Given the description of an element on the screen output the (x, y) to click on. 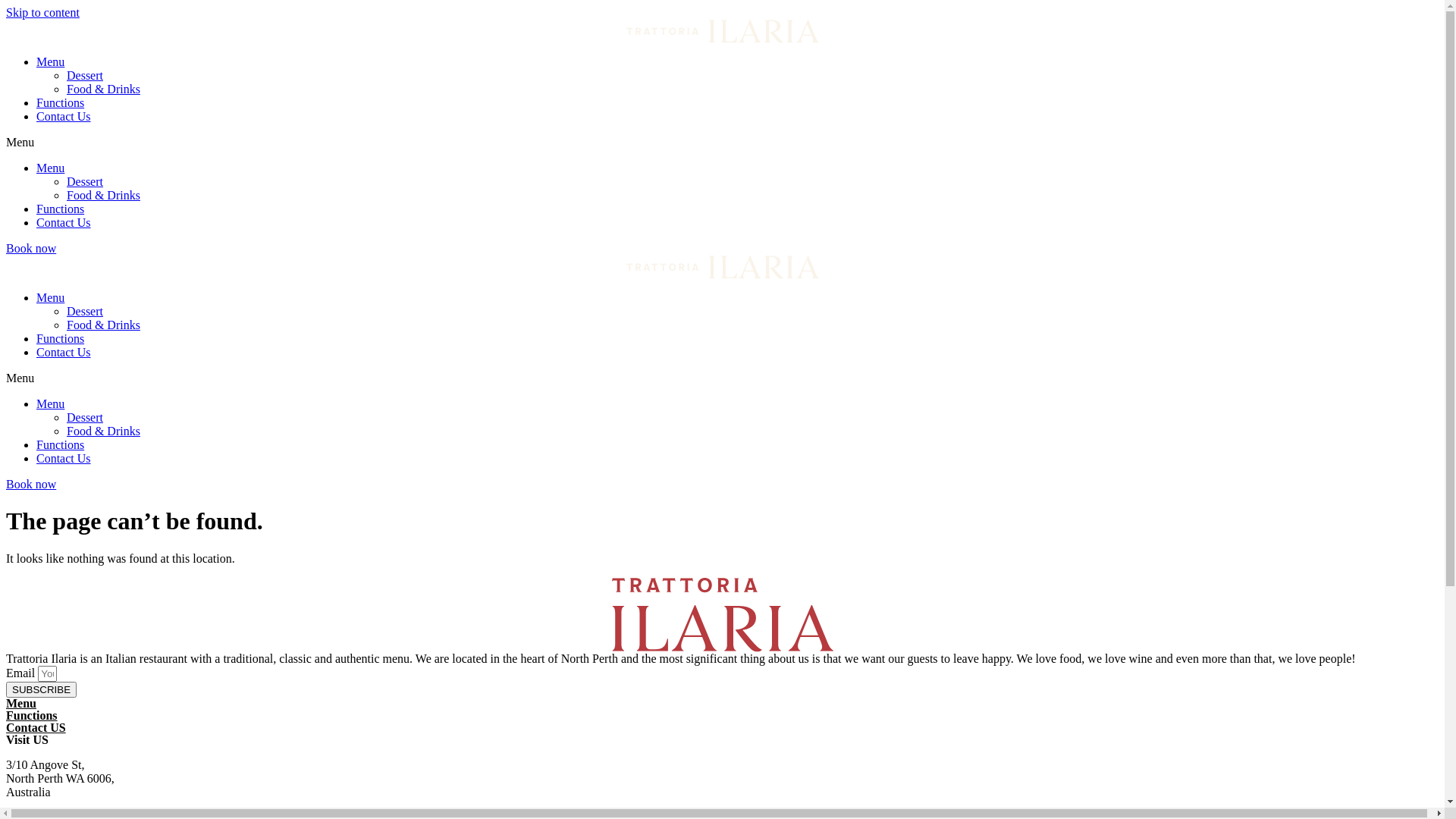
Food & Drinks Element type: text (103, 194)
Functions Element type: text (31, 715)
Functions Element type: text (60, 208)
Menu Element type: text (50, 403)
Contact Us Element type: text (63, 457)
Contact Us Element type: text (63, 222)
Functions Element type: text (60, 338)
Menu Element type: text (50, 167)
Food & Drinks Element type: text (103, 88)
Menu Element type: text (50, 297)
Contact US Element type: text (35, 727)
Dessert Element type: text (84, 181)
SUBSCRIBE Element type: text (41, 689)
Menu Element type: text (21, 702)
Contact Us Element type: text (63, 115)
Functions Element type: text (60, 444)
Book now Element type: text (31, 483)
Book now Element type: text (31, 247)
Dessert Element type: text (84, 75)
Dessert Element type: text (84, 417)
Food & Drinks Element type: text (103, 430)
Menu Element type: text (50, 61)
Contact Us Element type: text (63, 351)
Functions Element type: text (60, 102)
Food & Drinks Element type: text (103, 324)
Skip to content Element type: text (42, 12)
Dessert Element type: text (84, 310)
